Given the description of an element on the screen output the (x, y) to click on. 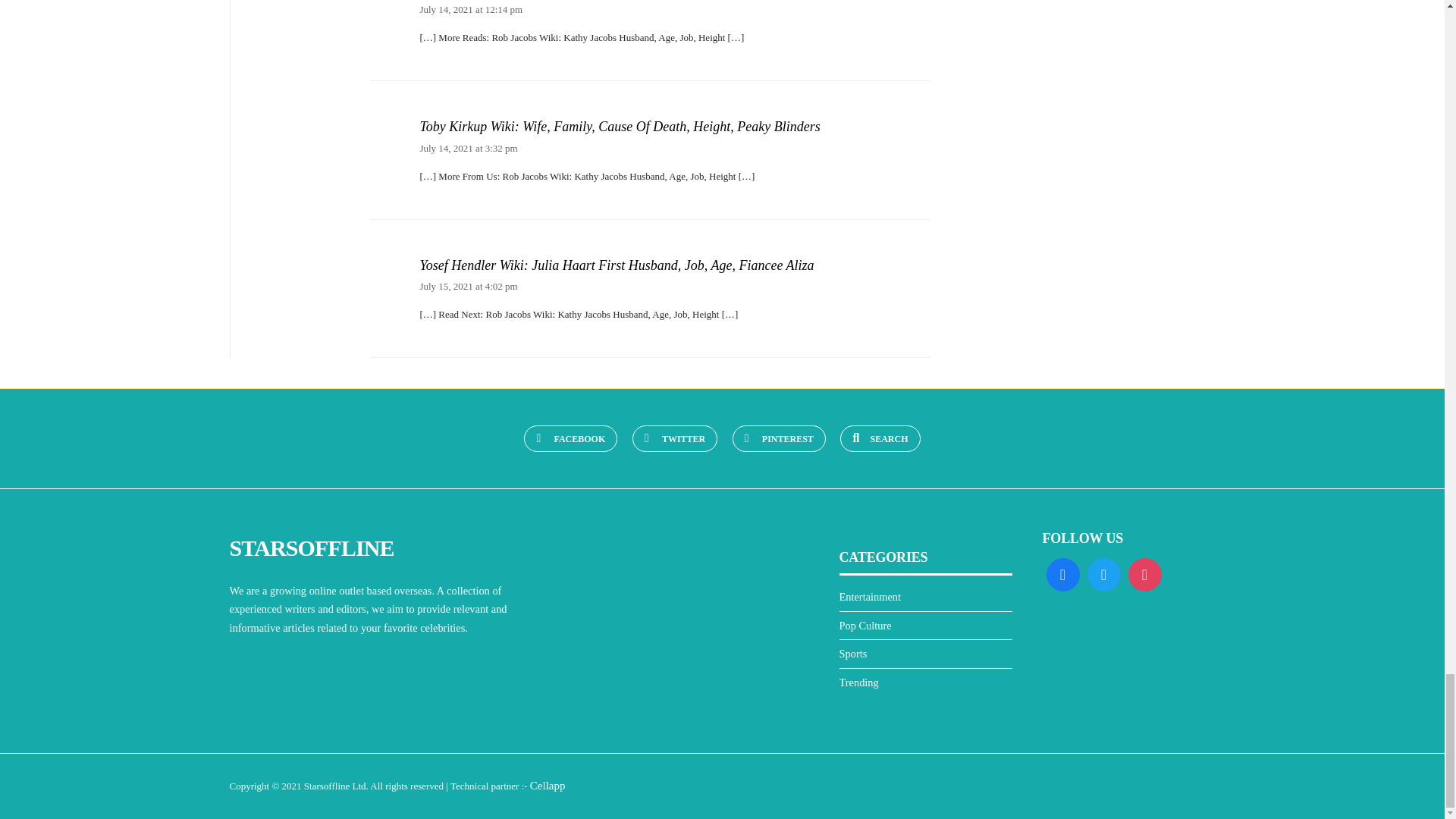
STARSOFFLINE (310, 547)
SEARCH (880, 438)
July 14, 2021 at 3:32 pm (467, 147)
FACEBOOK (570, 438)
Pinterest (778, 438)
Pop Culture (864, 625)
July 15, 2021 at 4:02 pm (467, 285)
Entertainment (869, 596)
TWITTER (674, 438)
